Given the description of an element on the screen output the (x, y) to click on. 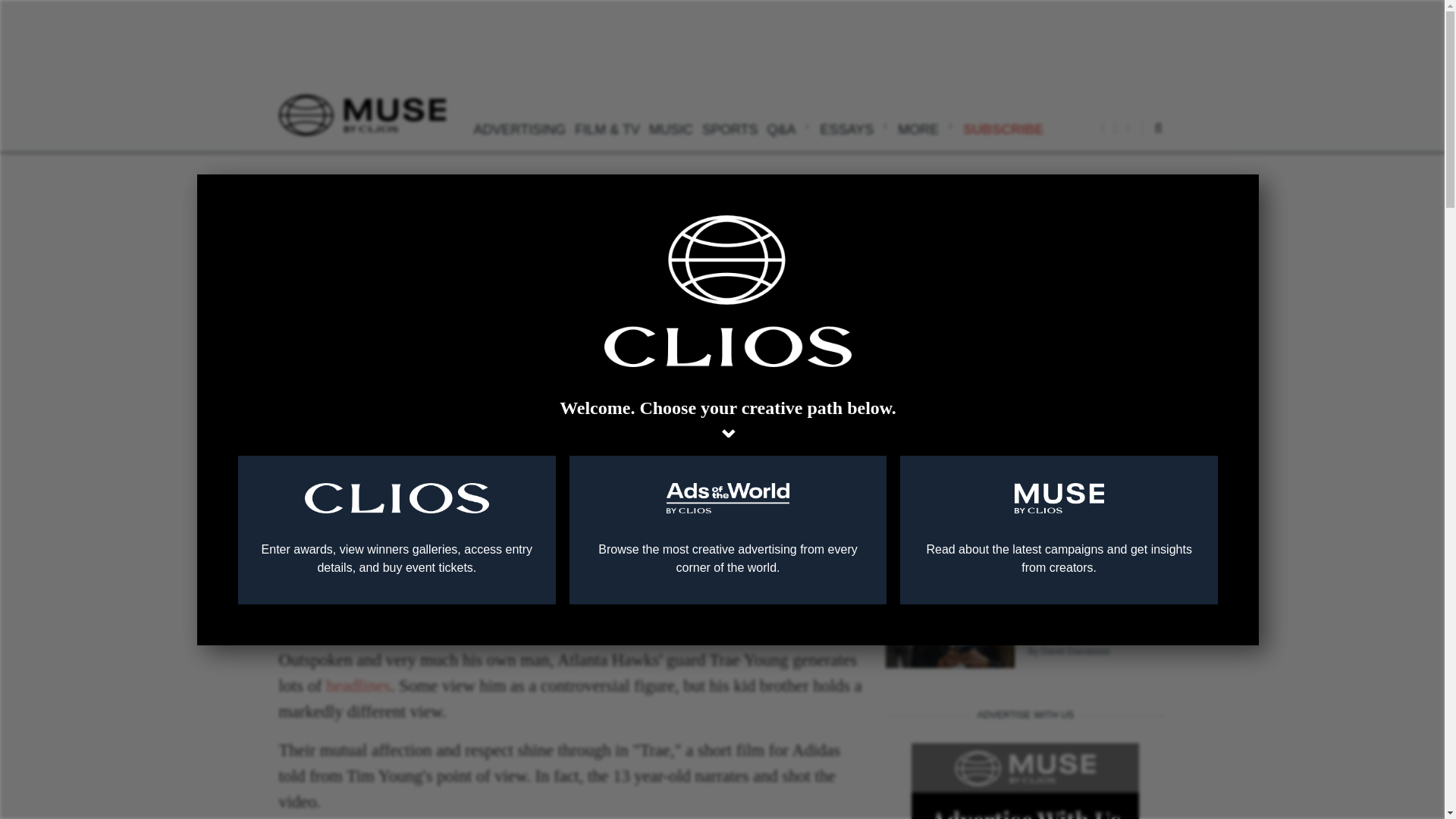
SUBSCRIBE (1002, 126)
SPORTS (729, 126)
Go (1118, 174)
ESSAYS (854, 126)
MUSIC (670, 126)
ADVERTISING (519, 126)
MORE (925, 126)
